Given the description of an element on the screen output the (x, y) to click on. 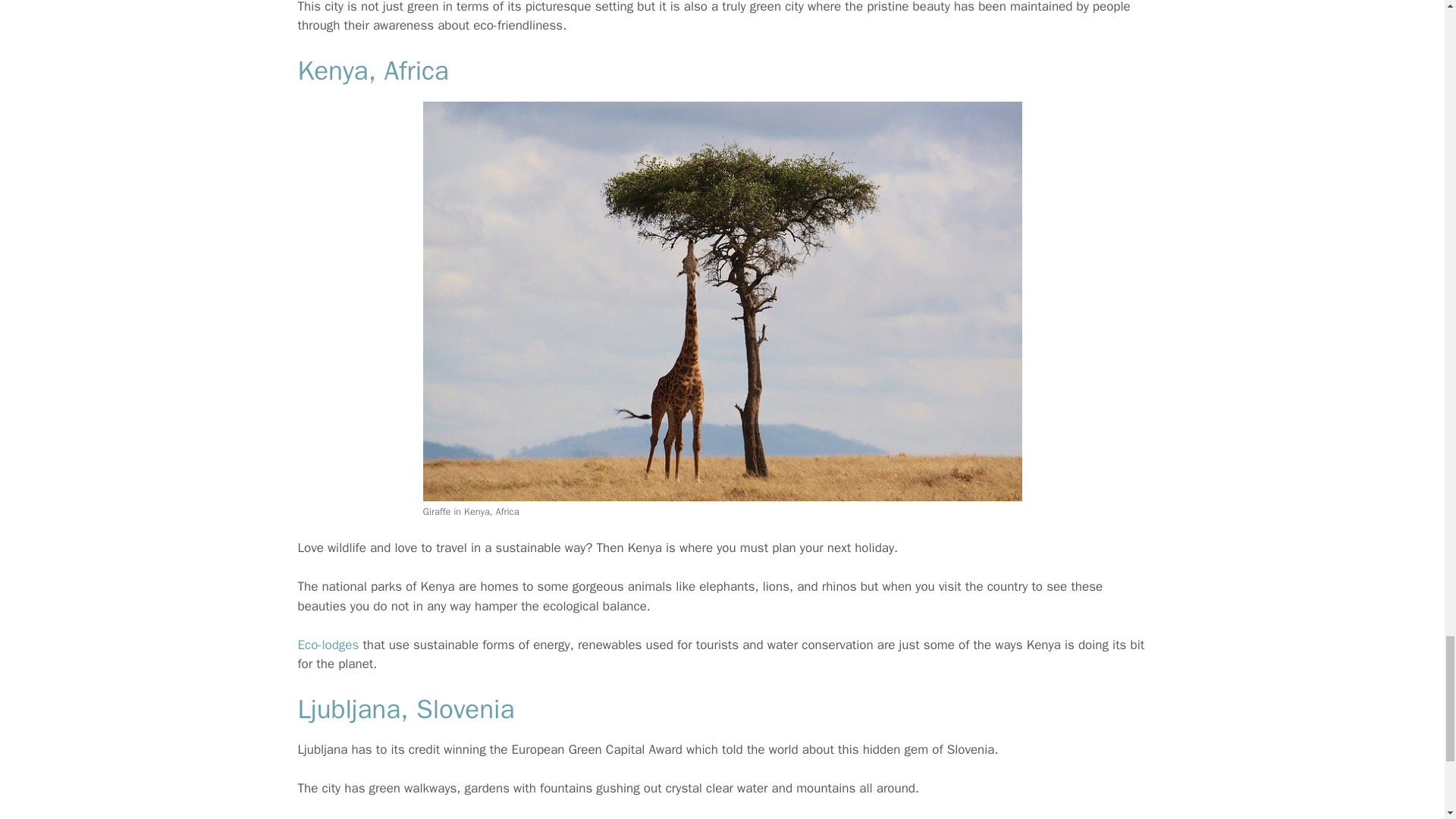
Eco-lodges (327, 644)
